Given the description of an element on the screen output the (x, y) to click on. 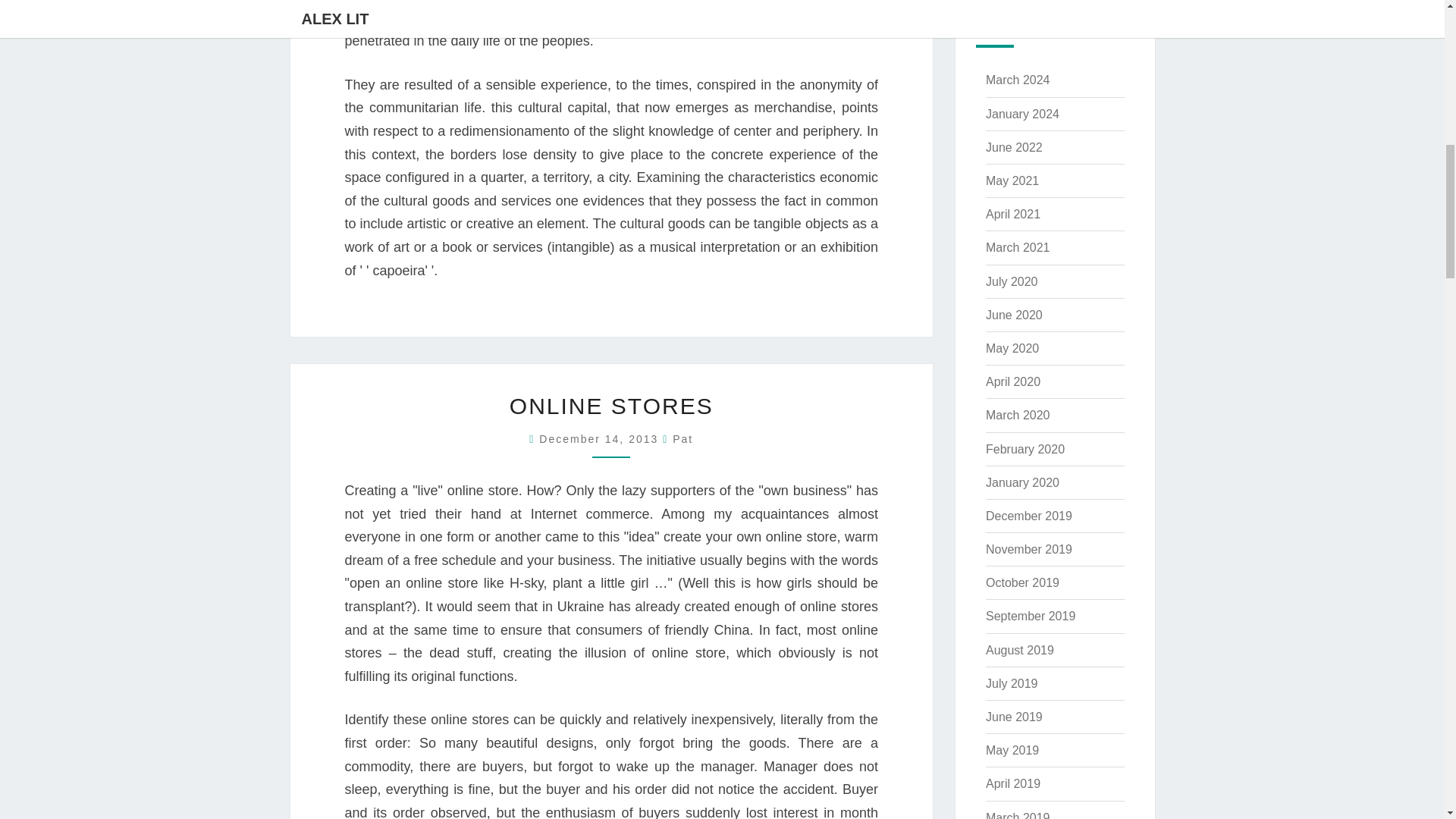
Pat (682, 439)
June 2022 (1013, 146)
ONLINE STORES (611, 405)
10:18 pm (600, 439)
December 14, 2013 (600, 439)
July 2020 (1011, 281)
April 2021 (1013, 214)
October 2019 (1022, 582)
February 2020 (1024, 449)
January 2020 (1022, 481)
May 2020 (1012, 348)
September 2019 (1030, 615)
April 2020 (1013, 381)
View all posts by Pat (682, 439)
June 2020 (1013, 314)
